Given the description of an element on the screen output the (x, y) to click on. 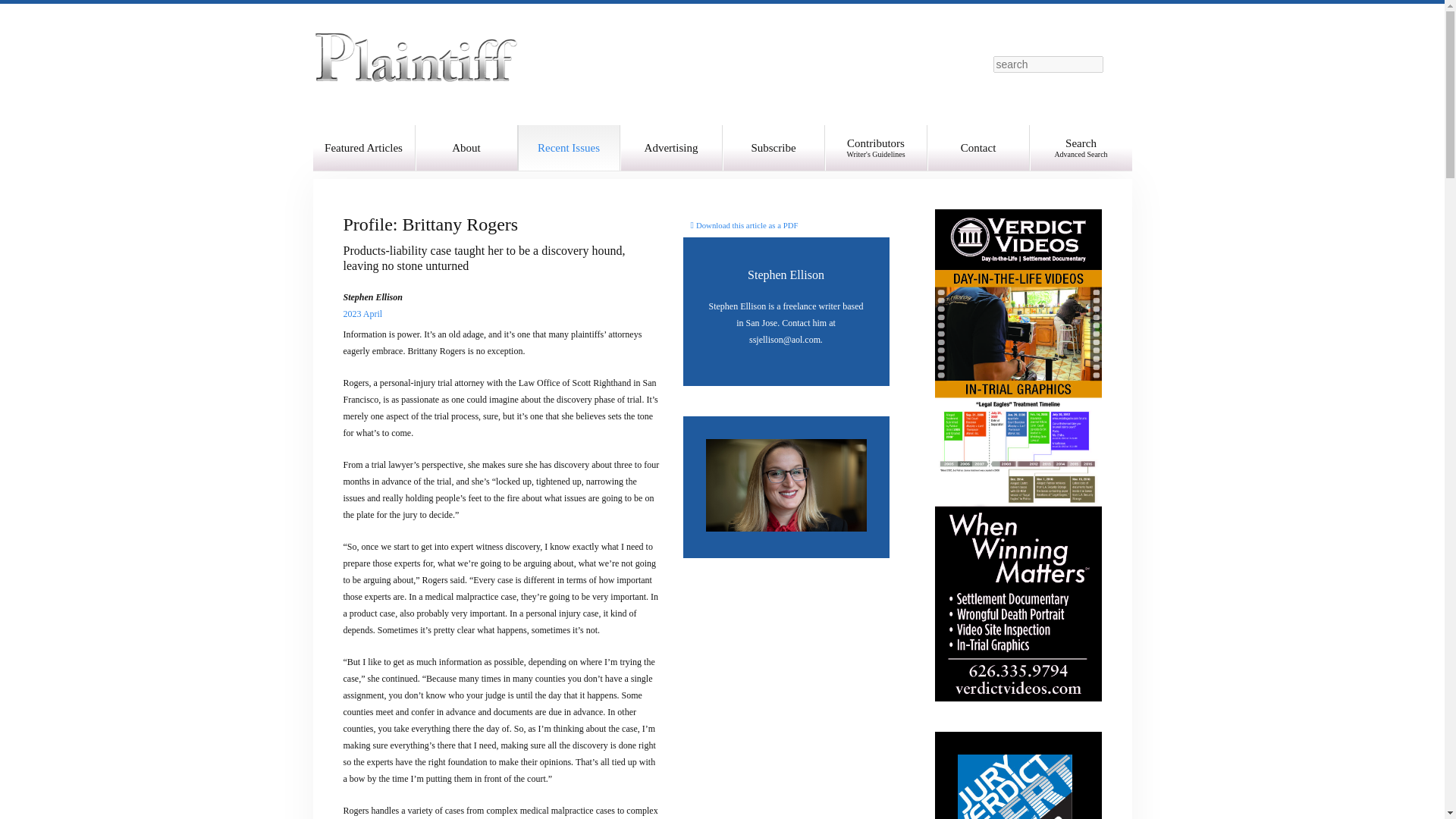
Profile: Brittany Rogers (430, 224)
2023 April (357, 313)
Contact (977, 147)
Recent Issues (568, 147)
Advertising (671, 147)
Stephen Ellison (786, 274)
Subscribe (773, 147)
Download this article as a PDF (743, 225)
Featured Articles (876, 147)
Download this article as a PDF (363, 147)
Stephen Ellison (743, 225)
Profile: Brittany Rogers (786, 274)
About (430, 224)
